Given the description of an element on the screen output the (x, y) to click on. 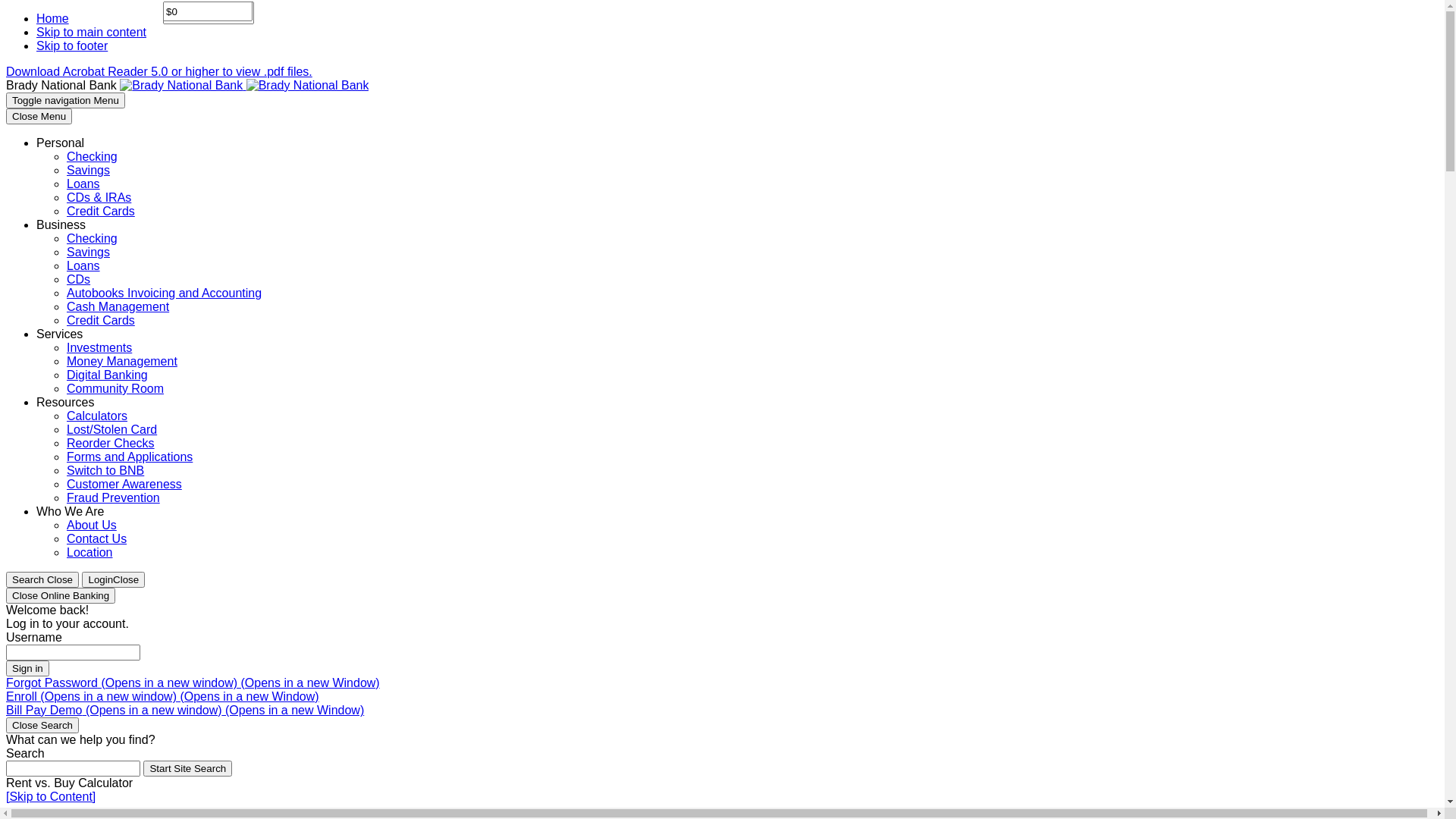
[Skip to Content] Element type: text (50, 796)
Skip to footer Element type: text (71, 45)
LoginClose Element type: text (112, 579)
Sign in Element type: text (27, 668)
Forms and Applications Element type: text (129, 456)
Skip to main content Element type: text (91, 31)
CDs Element type: text (78, 279)
CDs & IRAs Element type: text (98, 197)
Customer Awareness Element type: text (124, 483)
Close Search Element type: text (42, 725)
Toggle navigation Menu Element type: text (65, 100)
Digital Banking Element type: text (106, 374)
Enroll (Opens in a new window) (Opens in a new Window) Element type: text (162, 696)
Calculators Element type: text (96, 415)
Location Element type: text (89, 552)
Credit Cards Element type: text (100, 319)
Start Site Search Element type: text (187, 768)
Savings Element type: text (87, 251)
Contact Us Element type: text (96, 538)
Brady National Bank, Brady, TX Element type: hover (243, 84)
Download Acrobat Reader 5.0 or higher to view .pdf files. Element type: text (159, 71)
Switch to BNB Element type: text (105, 470)
Loans Element type: text (83, 183)
Lost/Stolen Card Element type: text (111, 429)
Loans Element type: text (83, 265)
Money Management Element type: text (121, 360)
Close Menu Element type: text (39, 116)
Checking Element type: text (91, 156)
Close Online Banking Element type: text (60, 595)
Search Close Element type: text (42, 579)
Credit Cards Element type: text (100, 210)
Reorder Checks Element type: text (110, 442)
Checking Element type: text (91, 238)
Home Element type: text (52, 18)
About Us Element type: text (91, 524)
Investments Element type: text (98, 347)
Cash Management Element type: text (117, 306)
Community Room Element type: text (114, 388)
Savings Element type: text (87, 169)
Fraud Prevention Element type: text (113, 497)
Autobooks Invoicing and Accounting Element type: text (163, 292)
